Given the description of an element on the screen output the (x, y) to click on. 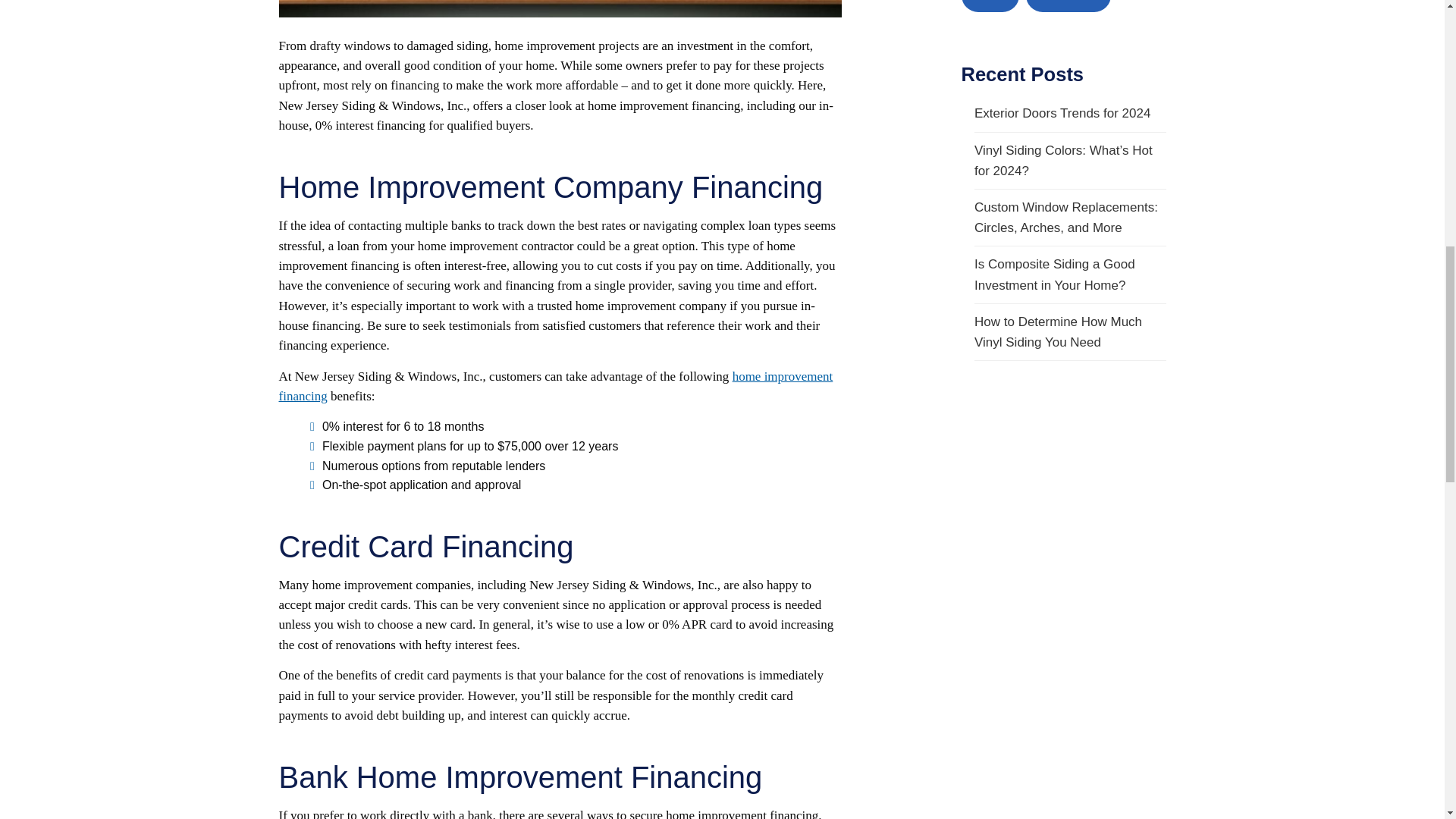
home improvement financing (555, 386)
